Given the description of an element on the screen output the (x, y) to click on. 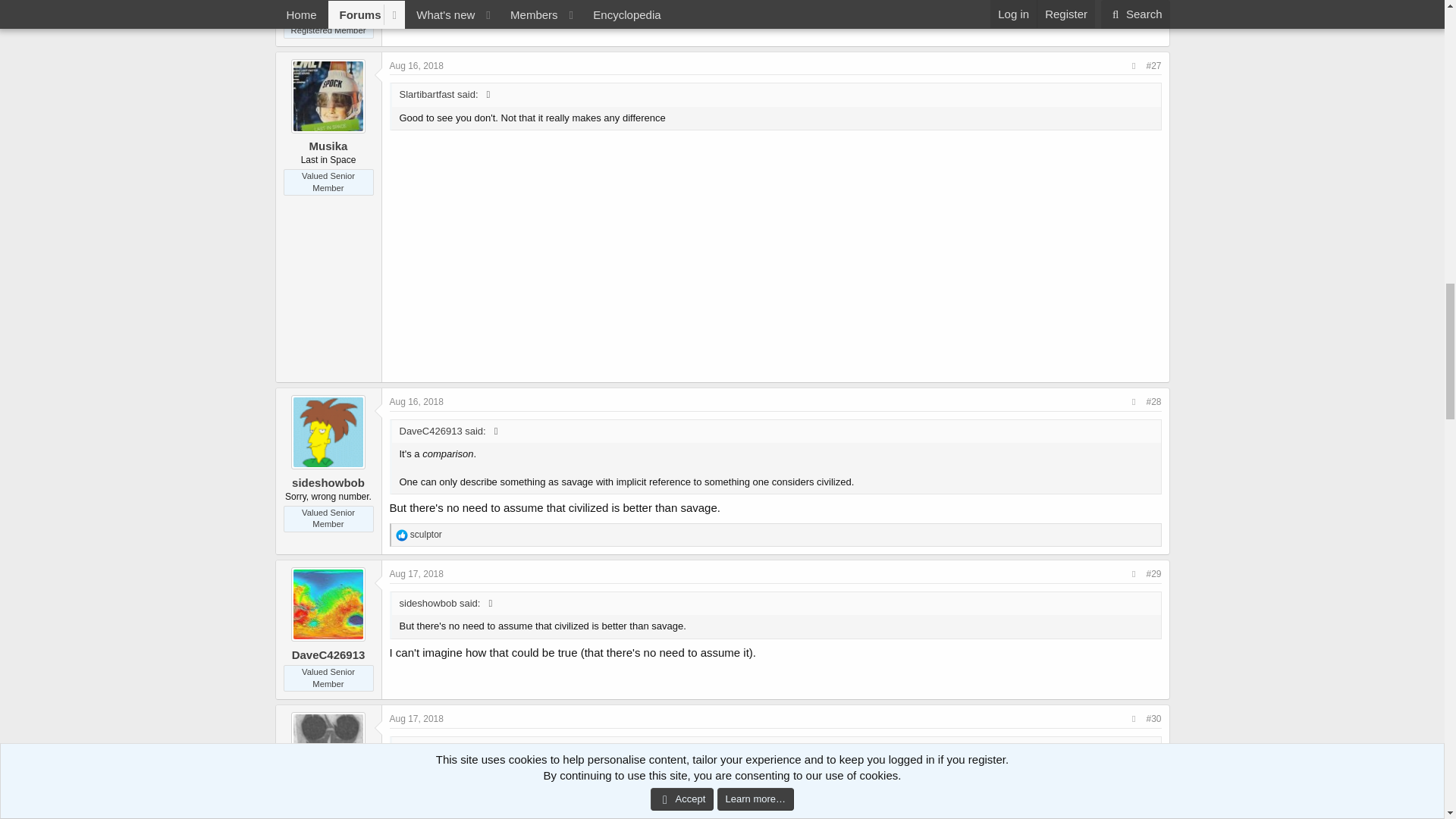
Like (401, 535)
Aug 17, 2018 at 3:54 PM (417, 718)
Aug 16, 2018 at 5:55 PM (417, 401)
Aug 17, 2018 at 1:21 AM (417, 573)
Aug 16, 2018 at 3:26 PM (417, 65)
